Given the description of an element on the screen output the (x, y) to click on. 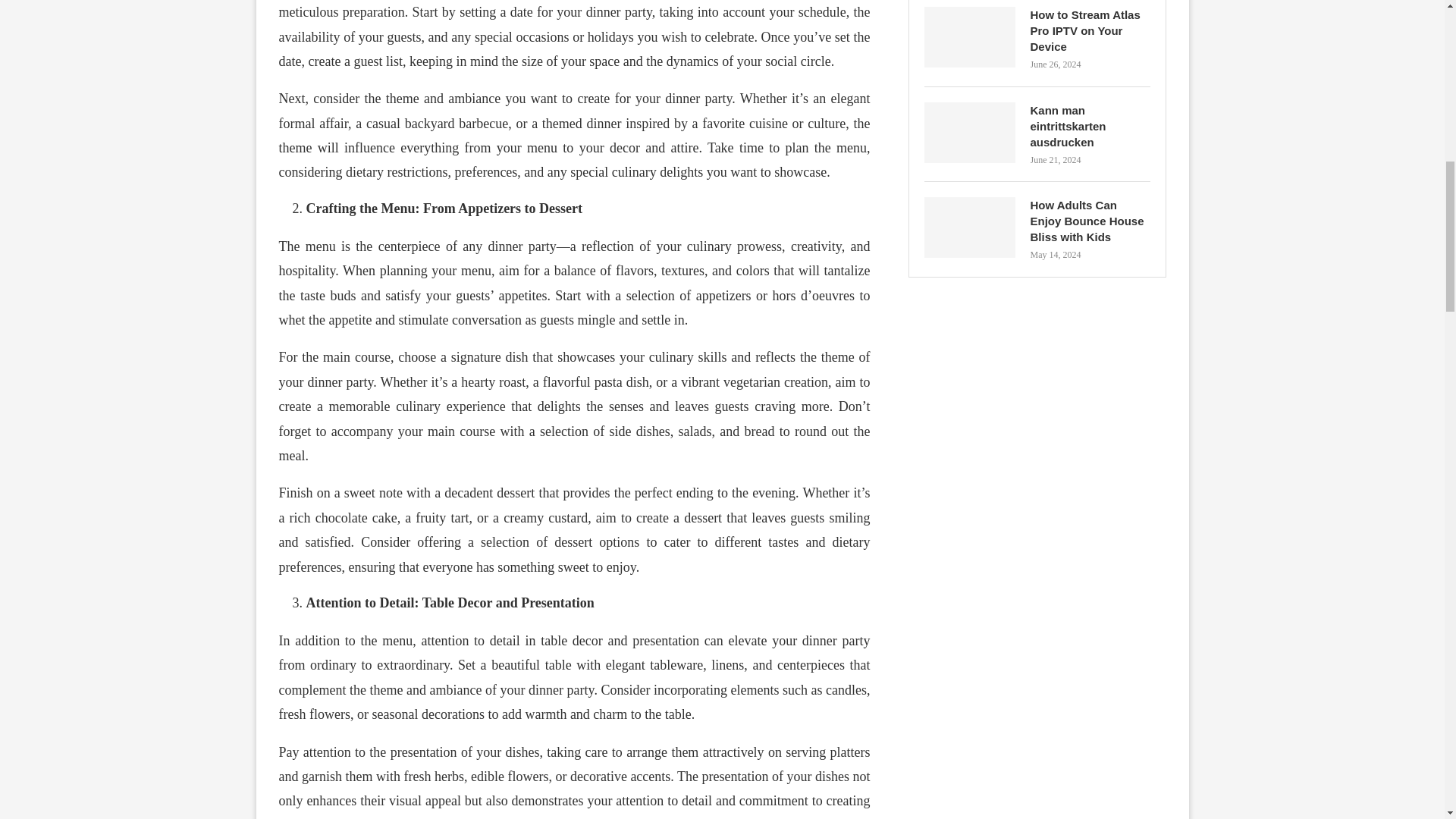
How to Stream Atlas Pro IPTV on Your Device (1089, 30)
Kann man eintrittskarten ausdrucken (968, 132)
How to Stream Atlas Pro IPTV on Your Device (968, 36)
